Given the description of an element on the screen output the (x, y) to click on. 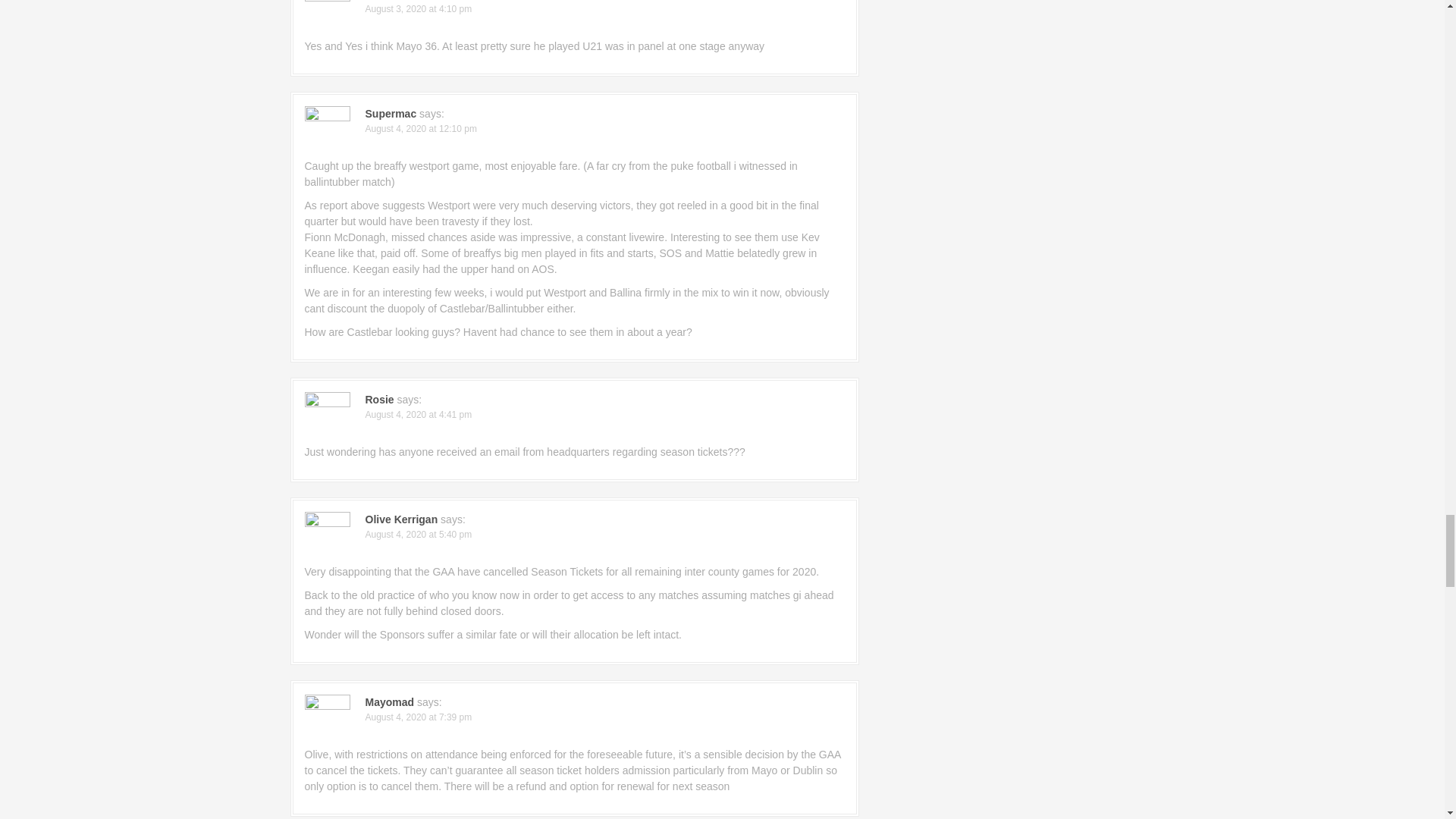
August 4, 2020 at 7:39 pm (418, 716)
August 3, 2020 at 4:10 pm (418, 9)
August 4, 2020 at 4:41 pm (418, 414)
August 4, 2020 at 5:40 pm (418, 534)
August 4, 2020 at 12:10 pm (421, 128)
